Given the description of an element on the screen output the (x, y) to click on. 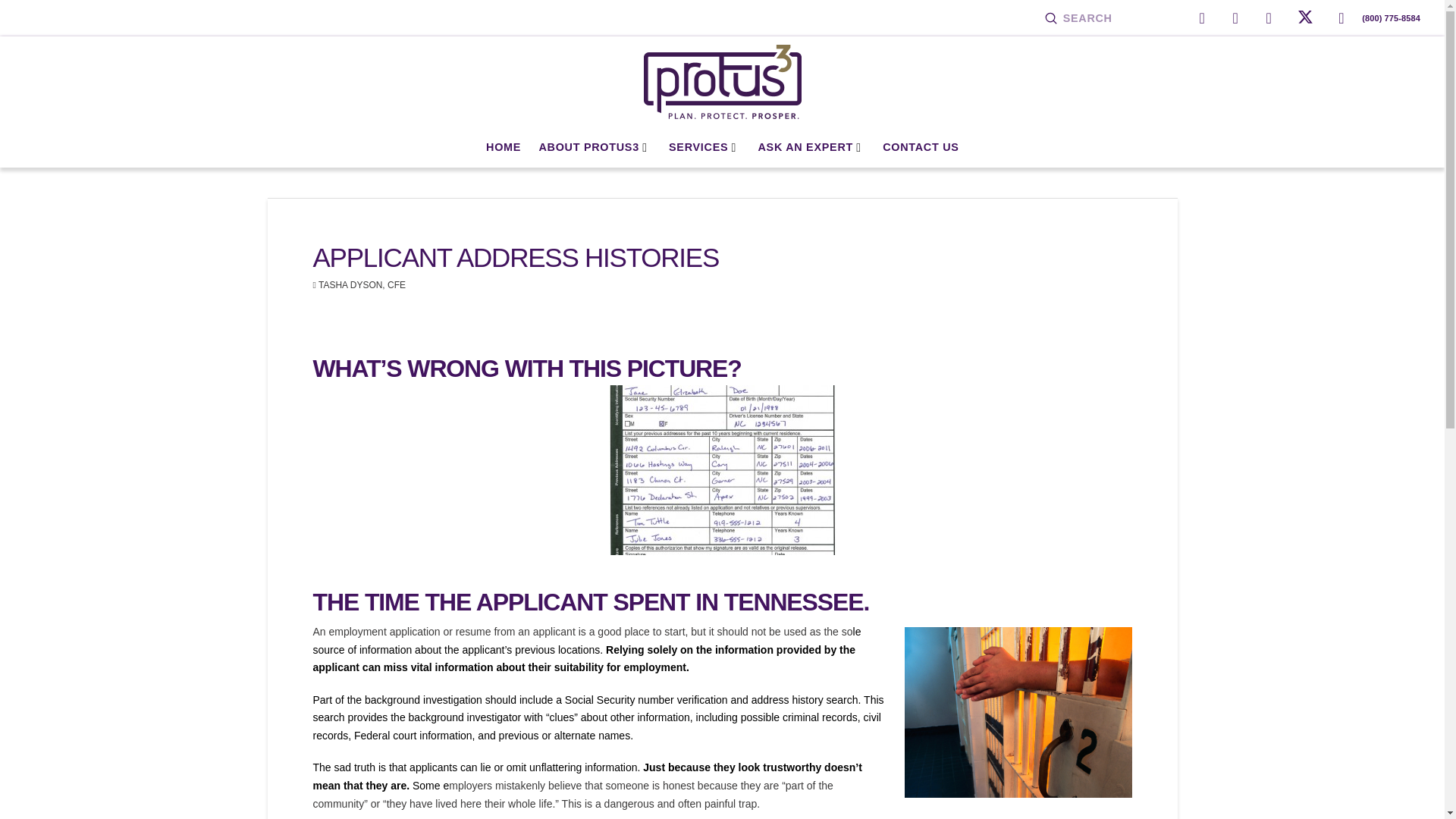
SERVICES (703, 147)
HOME (503, 147)
CONTACT US (920, 147)
Submit (1051, 18)
ABOUT PROTUS3 (594, 147)
ASK AN EXPERT (810, 147)
